Given the description of an element on the screen output the (x, y) to click on. 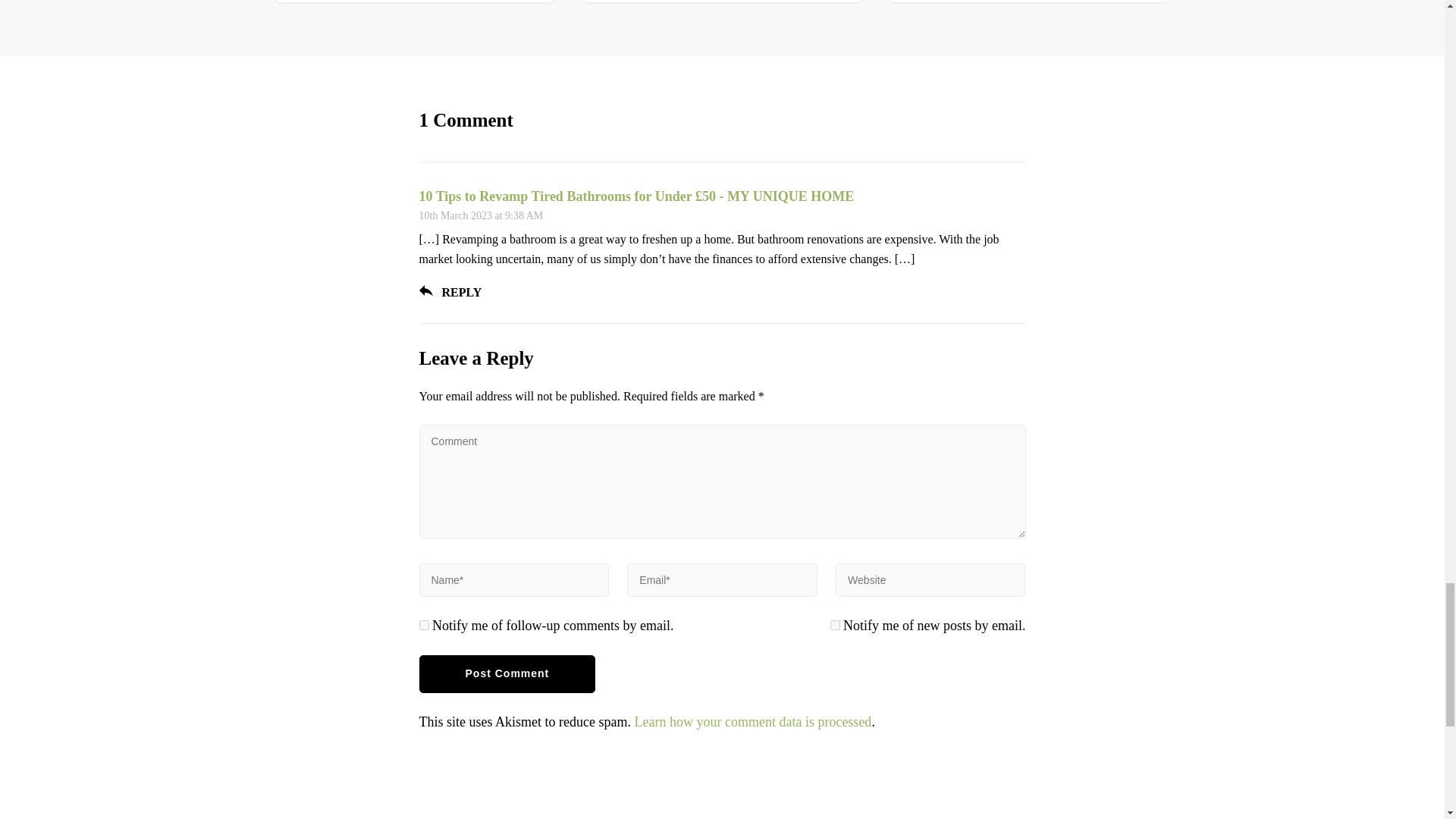
subscribe (423, 624)
Post Comment (507, 673)
subscribe (834, 624)
